Given the description of an element on the screen output the (x, y) to click on. 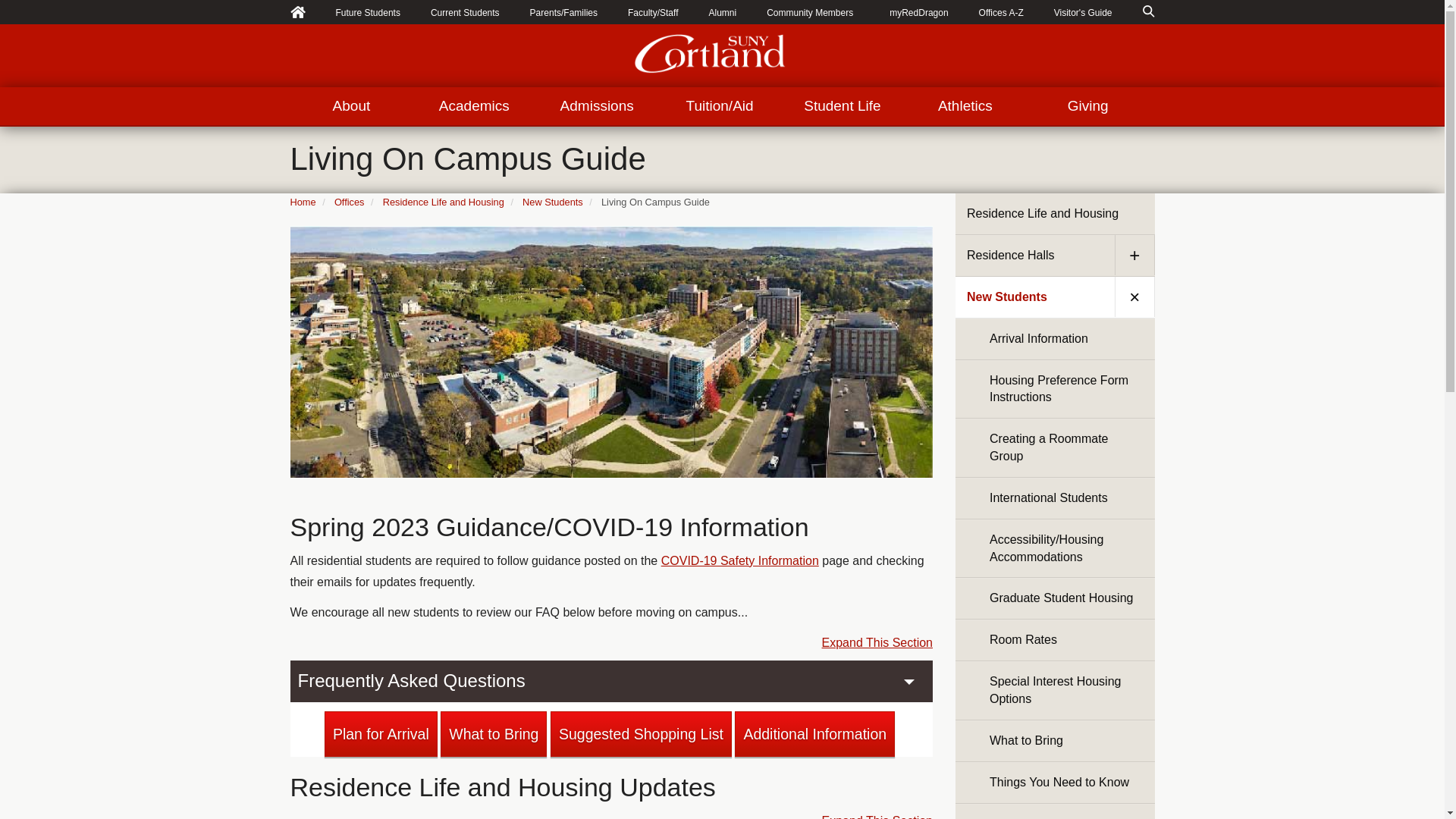
About (350, 105)
Admissions (596, 105)
Academics (473, 105)
